Given the description of an element on the screen output the (x, y) to click on. 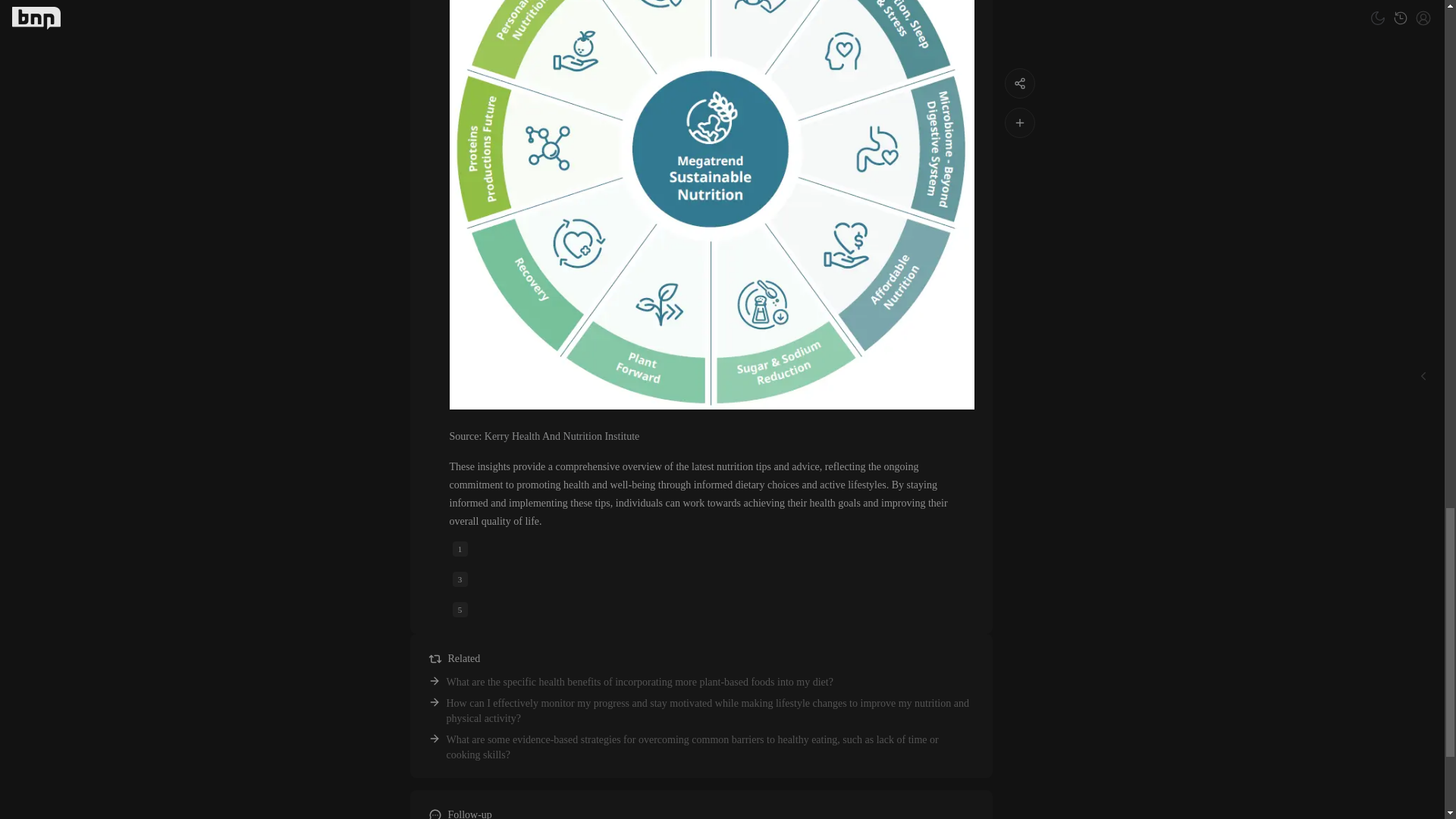
3 (459, 579)
5 (459, 609)
1 (459, 548)
Kerry Health And Nutrition Institute (562, 436)
